Given the description of an element on the screen output the (x, y) to click on. 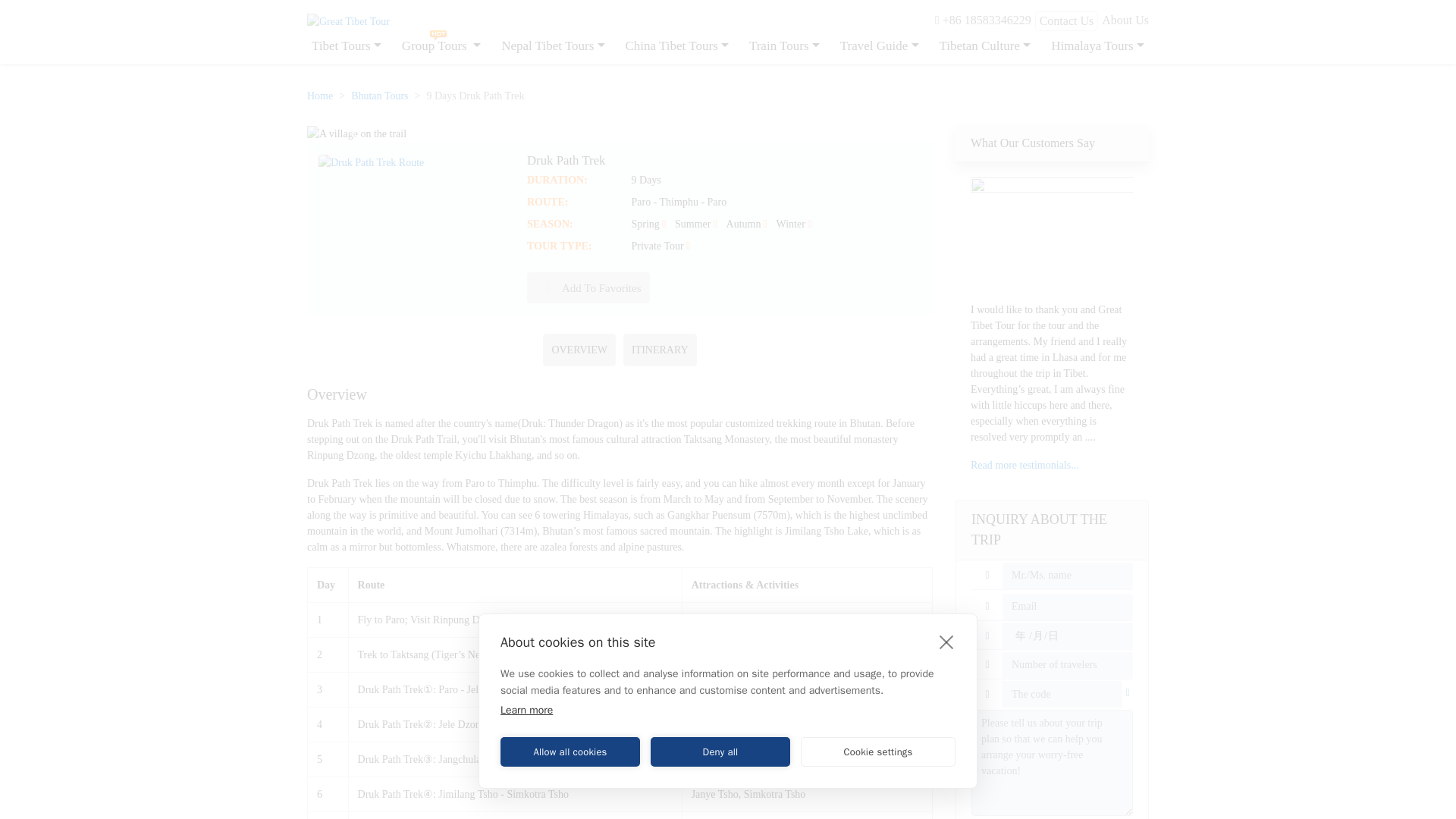
Cookie settings (877, 751)
About Us (1125, 19)
Allow all cookies (570, 751)
Deny all (720, 751)
Tibet Tours (346, 45)
Contact Us (1067, 21)
Add to Favorites (588, 287)
Learn more (526, 709)
A village on the trail (356, 133)
